Given the description of an element on the screen output the (x, y) to click on. 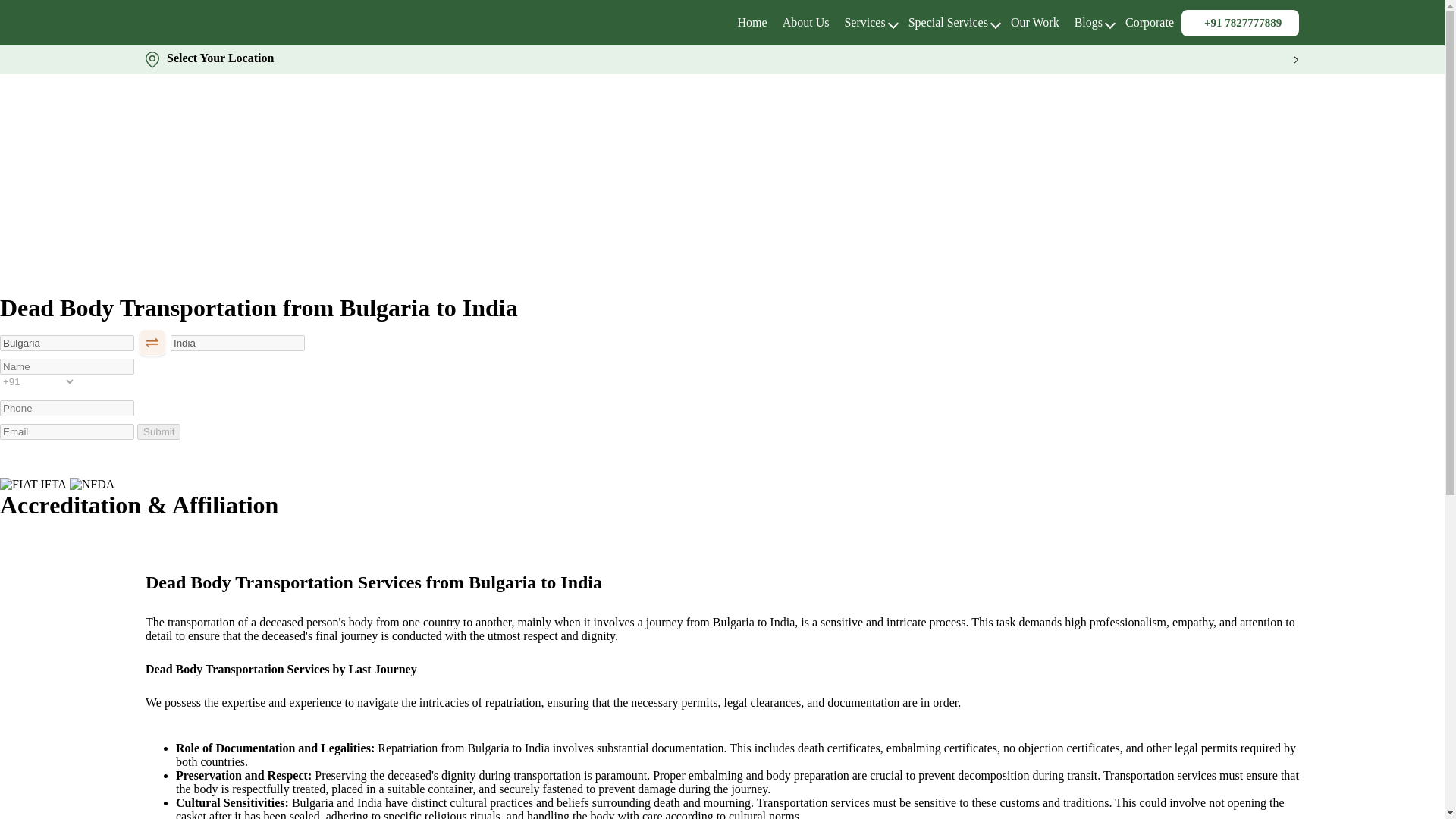
About Us (806, 21)
Lastjourney.in (752, 21)
Home (752, 21)
Special Services (948, 21)
Bulgaria (66, 342)
India (237, 342)
About Us (806, 21)
Submit (158, 431)
